Given the description of an element on the screen output the (x, y) to click on. 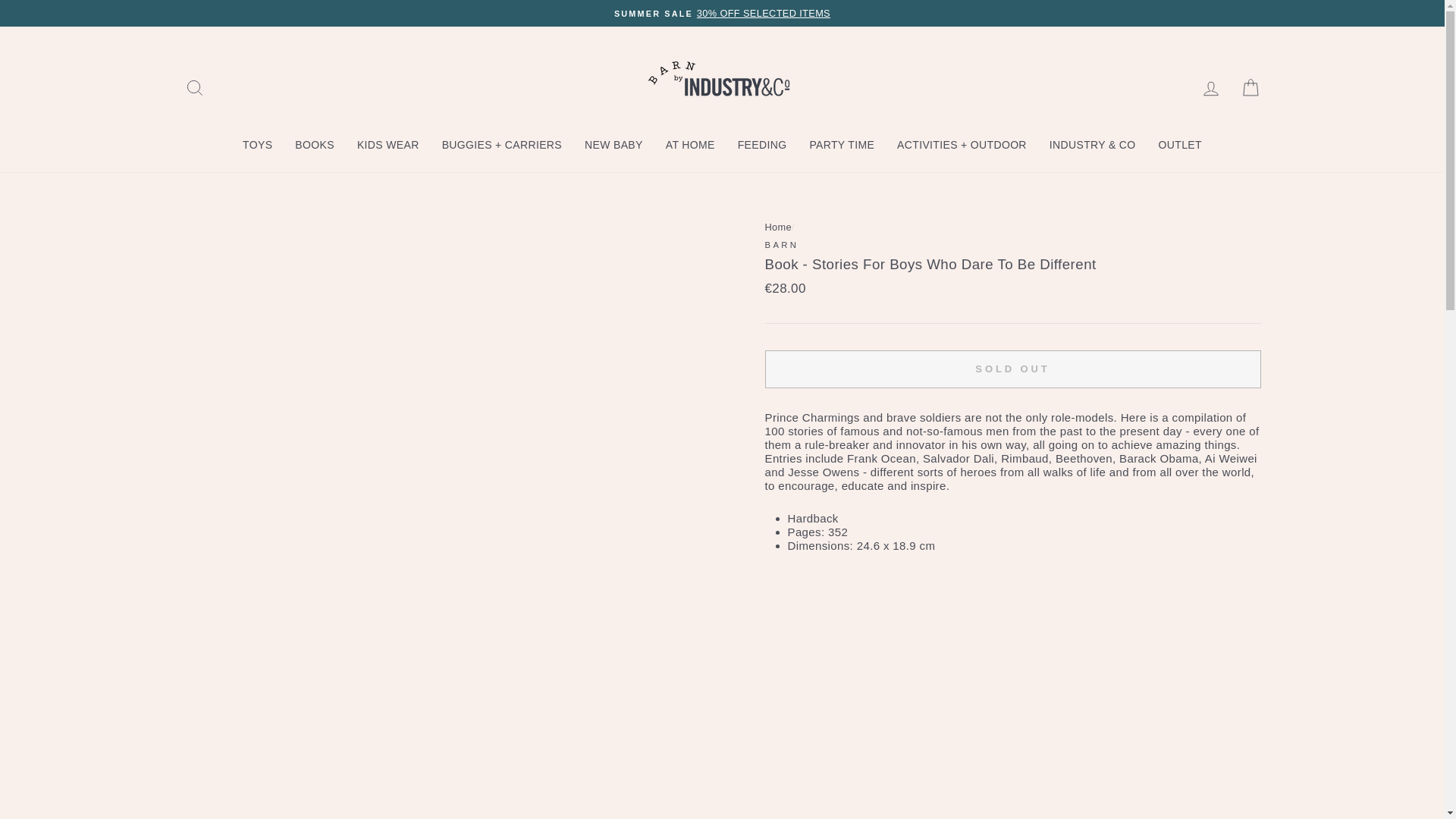
Back to the frontpage (778, 226)
Barn (780, 244)
